Given the description of an element on the screen output the (x, y) to click on. 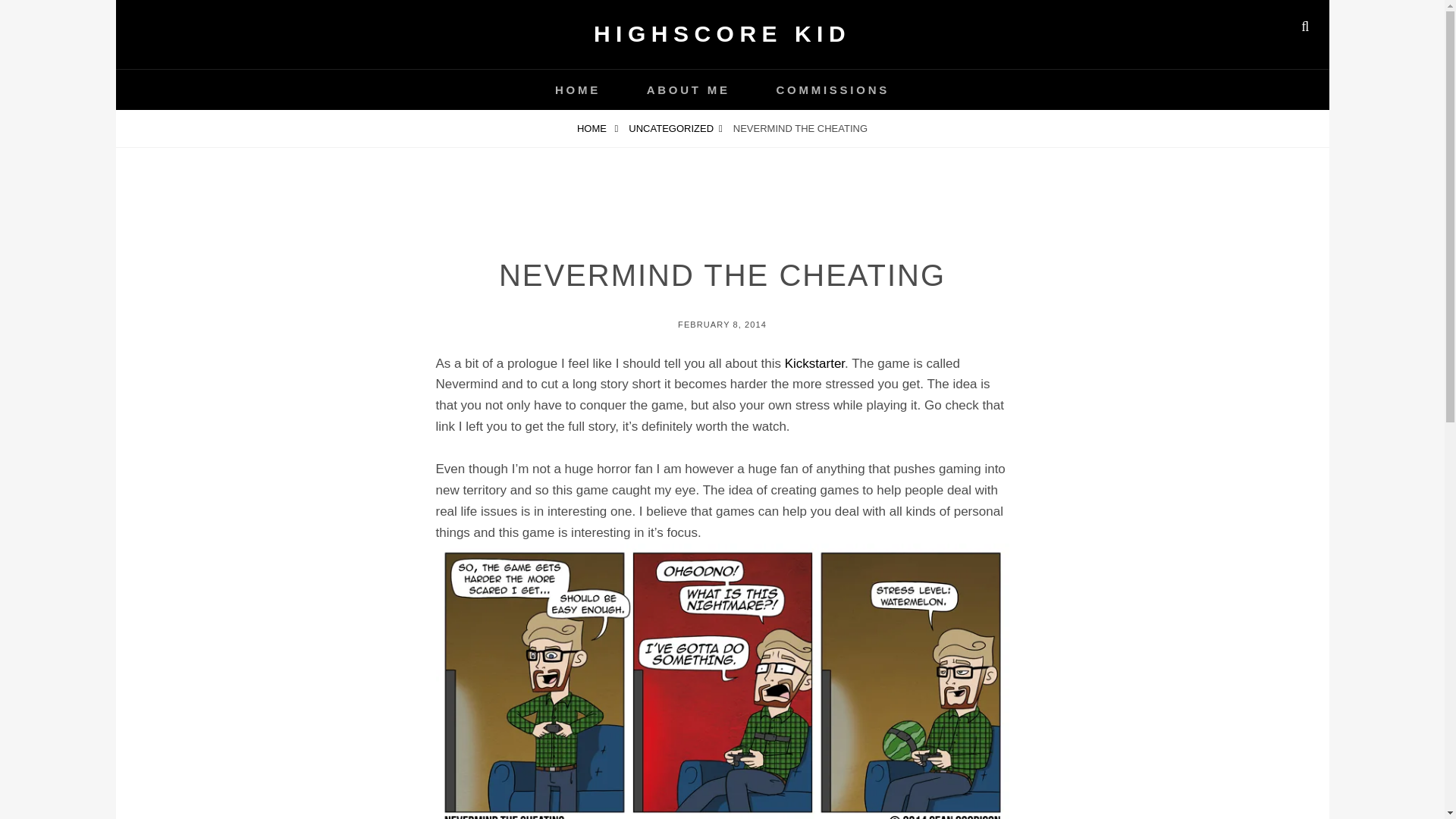
HIGHSCORE KID (722, 33)
HOME (597, 128)
HOME (577, 89)
ABOUT ME (688, 89)
UNCATEGORIZED (674, 128)
Kickstarter (814, 363)
COMMISSIONS (832, 89)
